Given the description of an element on the screen output the (x, y) to click on. 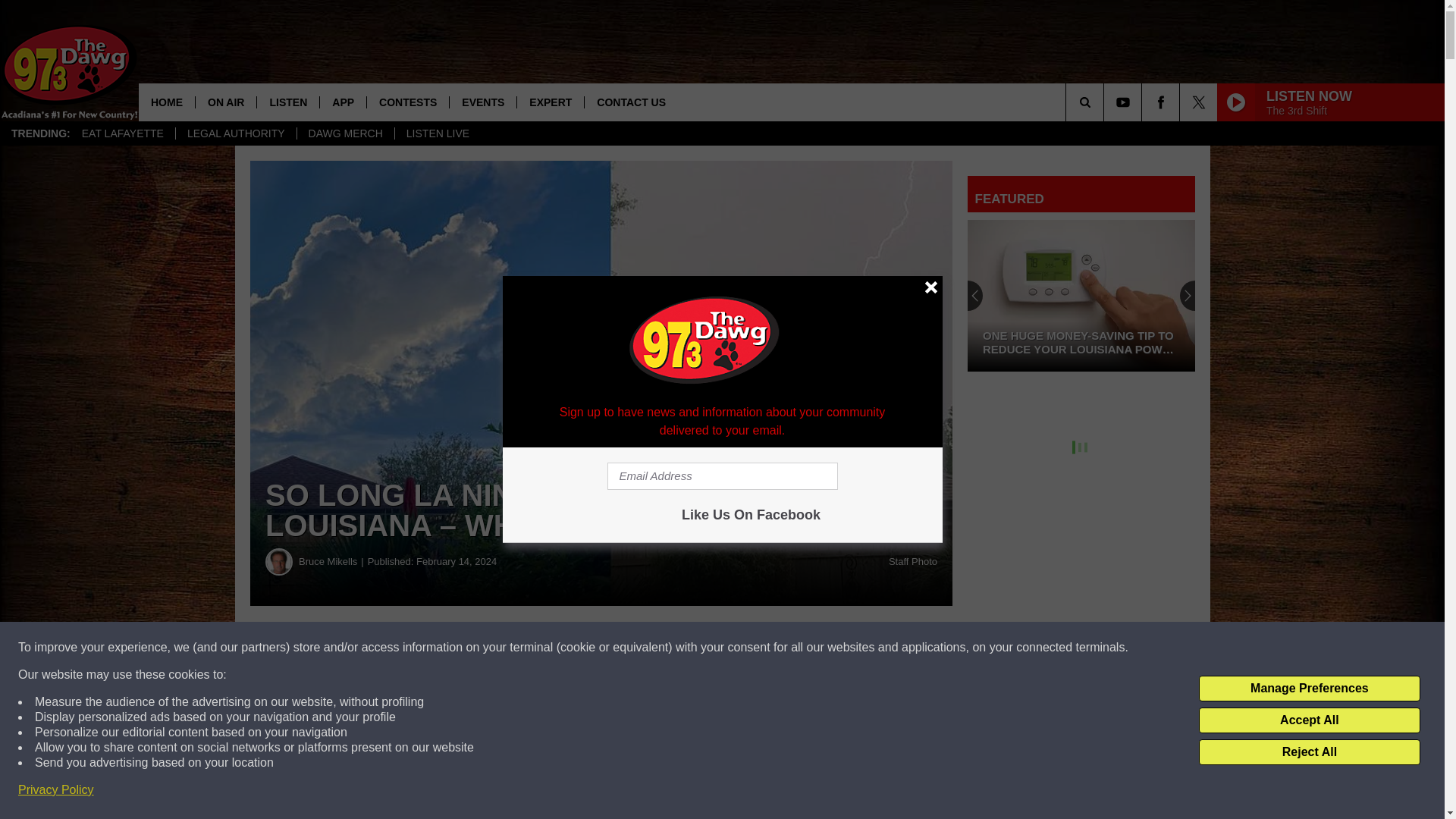
Manage Preferences (1309, 688)
LISTEN (287, 102)
Privacy Policy (55, 789)
EAT LAFAYETTE (121, 133)
SEARCH (1106, 102)
APP (342, 102)
EVENTS (482, 102)
Email Address (722, 475)
DAWG MERCH (345, 133)
Share on Twitter (741, 647)
LEGAL AUTHORITY (235, 133)
ON AIR (225, 102)
EXPERT (549, 102)
SEARCH (1106, 102)
LISTEN LIVE (437, 133)
